Given the description of an element on the screen output the (x, y) to click on. 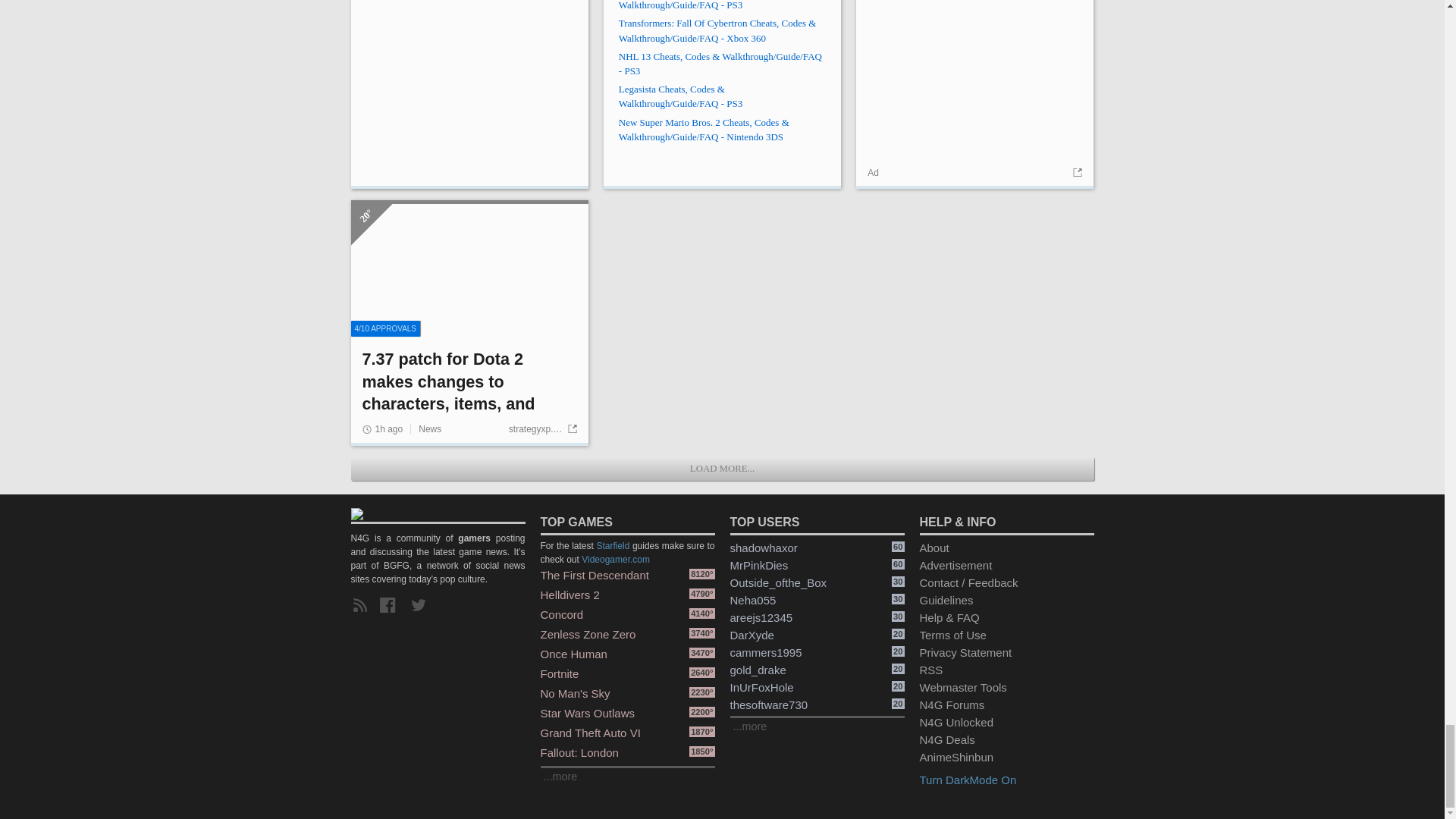
Our twitter page (421, 605)
Go to source: strategyxp.com (542, 429)
Our facebook page (390, 605)
Go to source (1074, 172)
RSS Feed (362, 605)
